Given the description of an element on the screen output the (x, y) to click on. 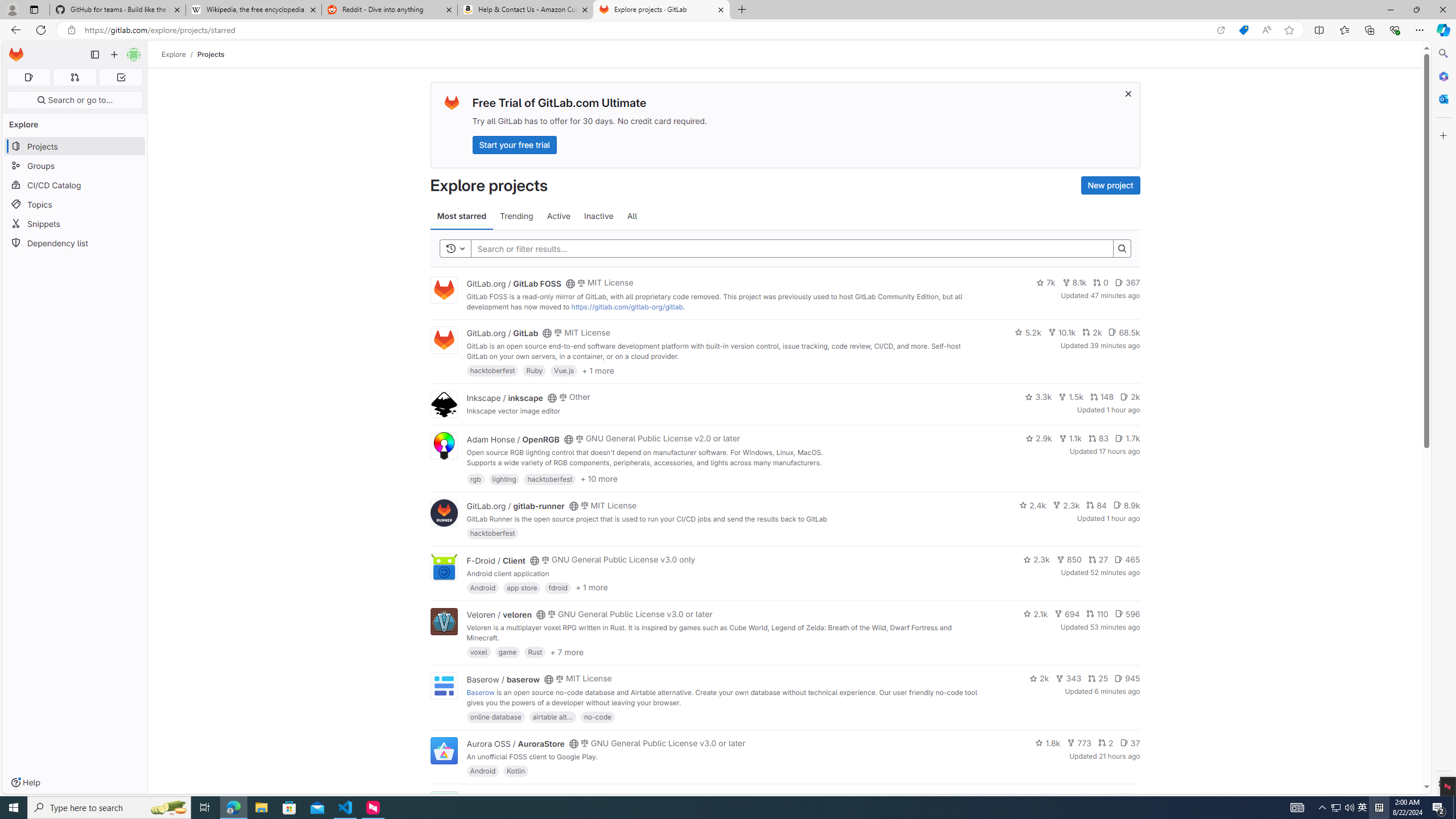
Trending (516, 216)
2.3k (1035, 559)
GitLab.org / gitlab-runner (514, 506)
6 (1132, 797)
2.9k (1038, 438)
Merge requests 0 (74, 76)
Class: s16 gl-icon gl-button-icon  (1127, 93)
Baserow / baserow (502, 678)
Close Outlook pane (1442, 98)
Ruby (533, 370)
10.1k (1061, 331)
367 (1127, 282)
